Given the description of an element on the screen output the (x, y) to click on. 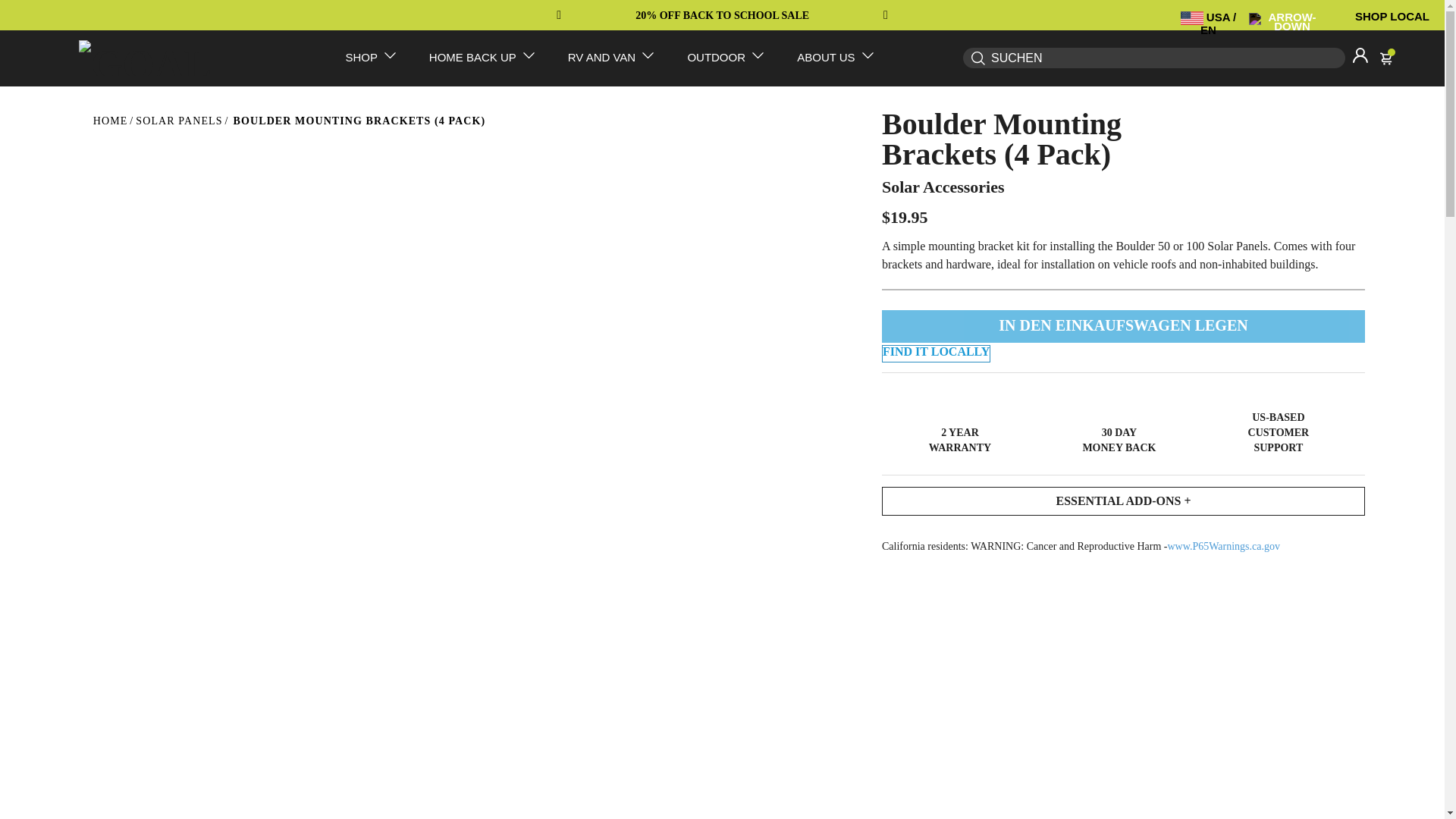
SHOP LOCAL (1392, 15)
Home (110, 119)
Next (880, 15)
Previous (564, 15)
